Given the description of an element on the screen output the (x, y) to click on. 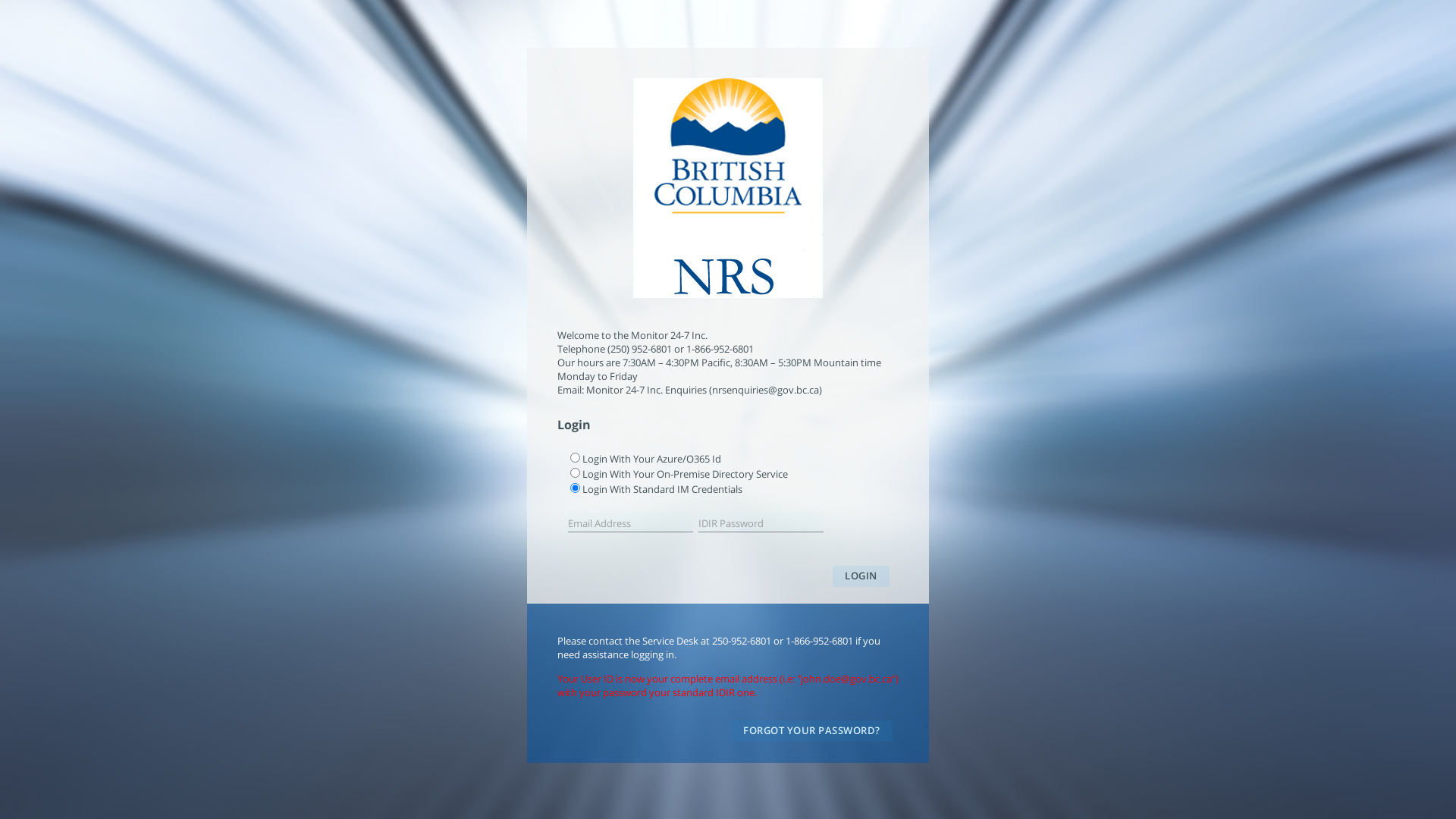
FORGOT YOUR PASSWORD? Element type: text (811, 730)
AzureAD Element type: text (575, 457)
LOGIN Element type: text (860, 575)
OnPremise Element type: text (575, 472)
Standard Element type: text (575, 487)
